Given the description of an element on the screen output the (x, y) to click on. 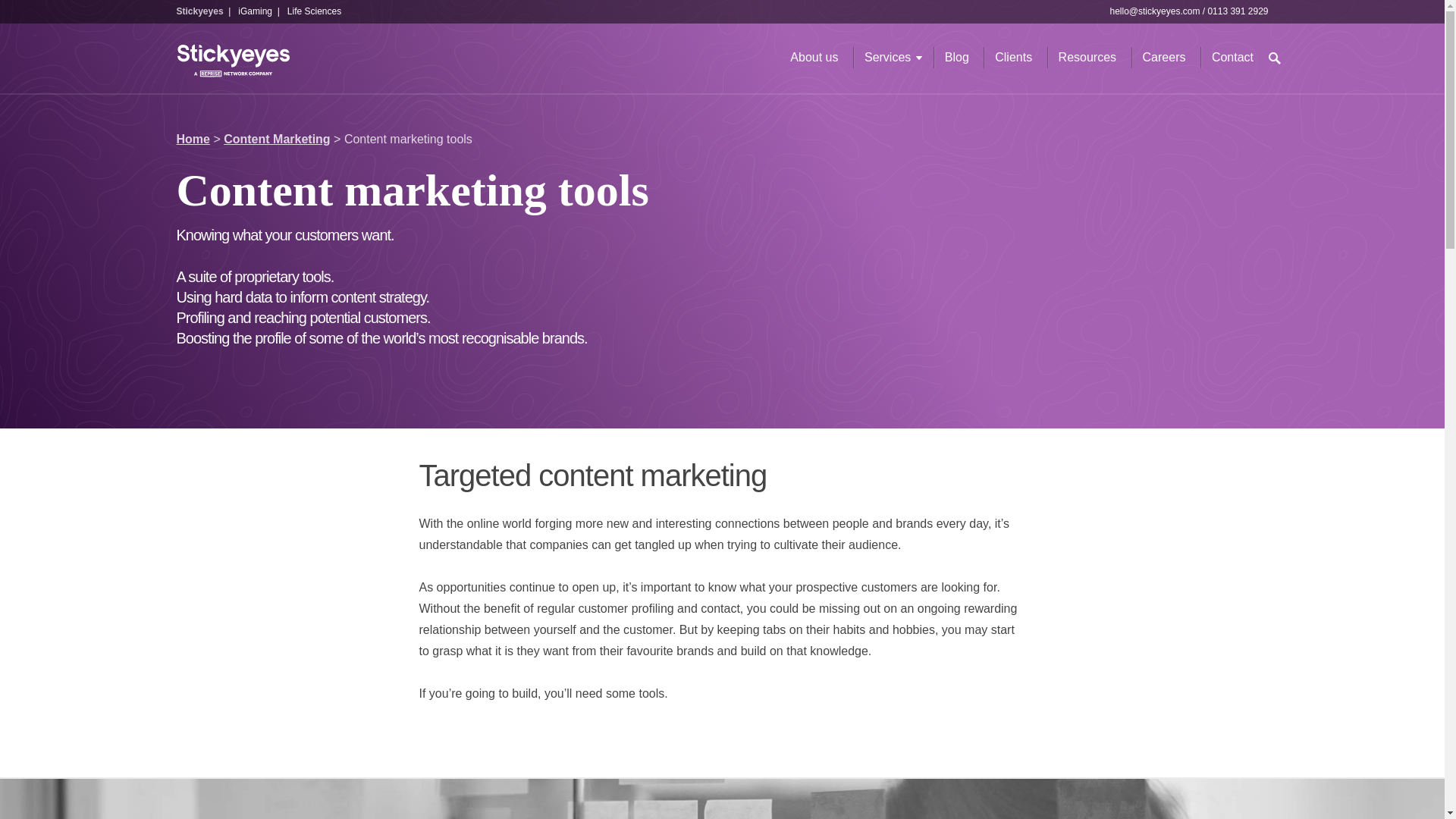
Contact (1232, 57)
iGaming (255, 10)
Clients (1013, 57)
Resources (1087, 57)
Careers (1164, 57)
0113 391 2929 (1237, 10)
Life Sciences (313, 10)
Blog (956, 57)
Stickyeyes (199, 10)
Services (887, 57)
